Given the description of an element on the screen output the (x, y) to click on. 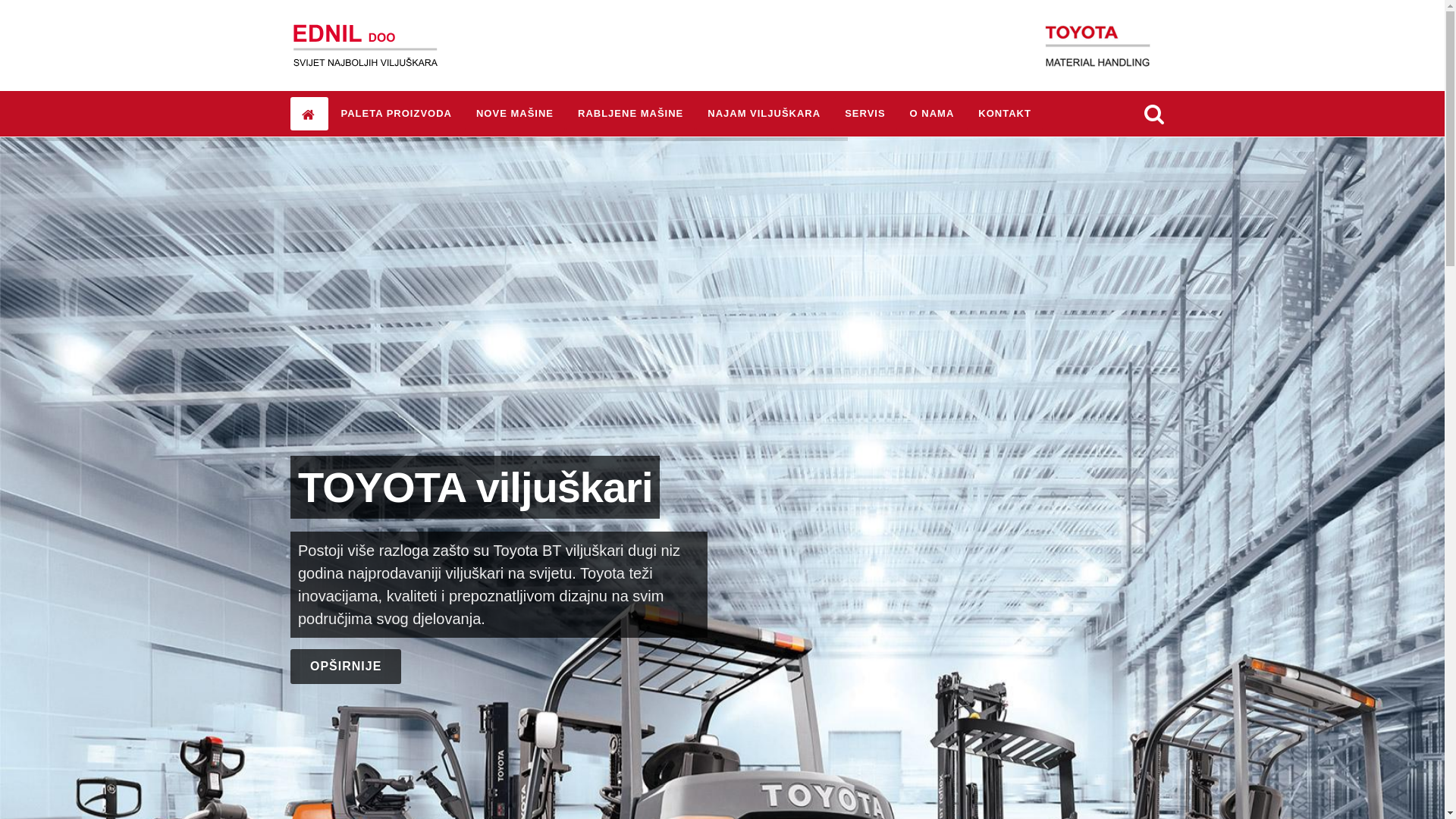
KONTAKT Element type: text (1004, 113)
PALETA PROIZVODA Element type: text (395, 113)
SERVIS Element type: text (864, 113)
O NAMA Element type: text (932, 113)
